Given the description of an element on the screen output the (x, y) to click on. 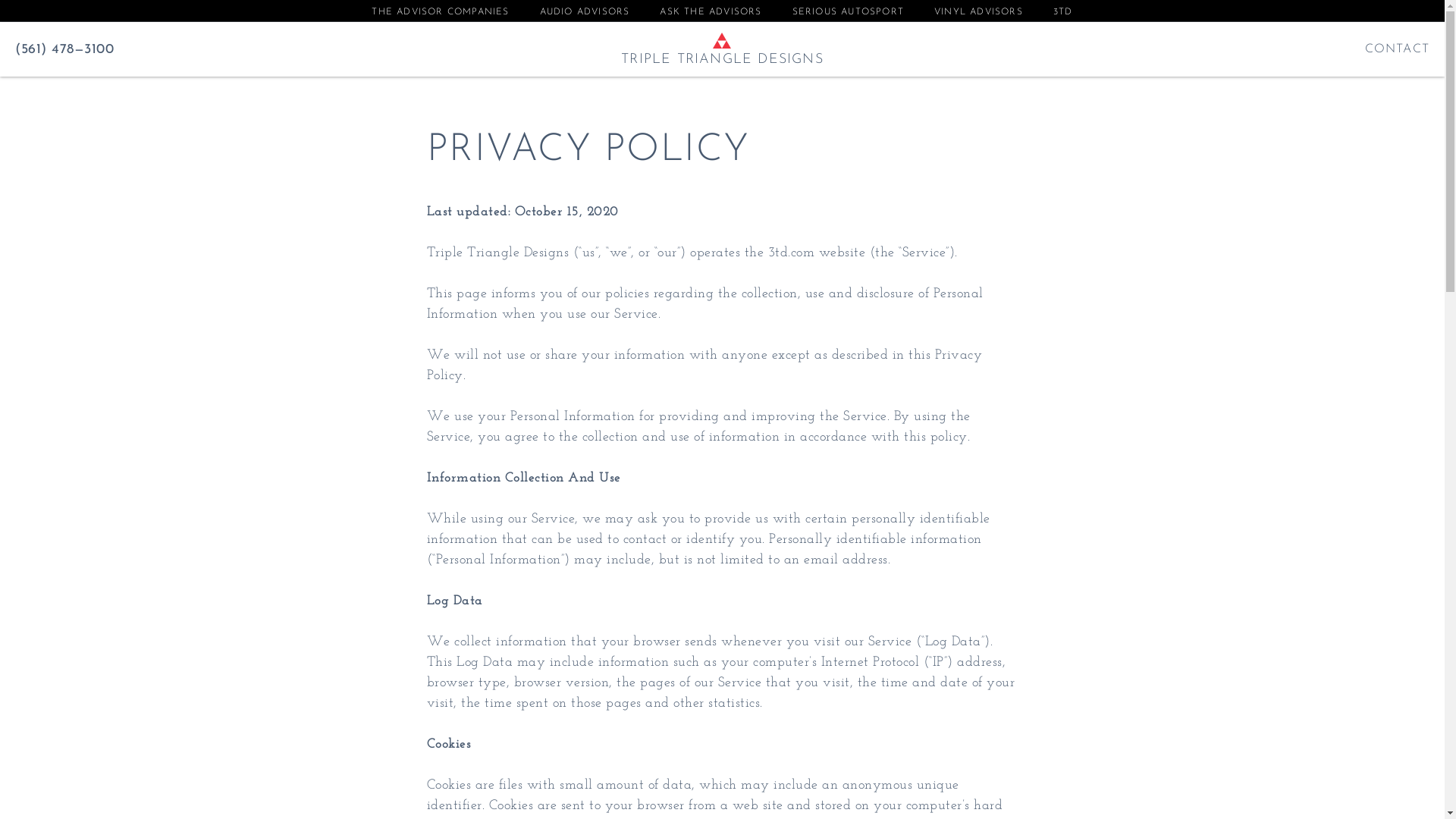
ASK THE ADVISORS Element type: text (710, 11)
AUDIO ADVISORS Element type: text (584, 11)
CONTACT Element type: text (1397, 49)
VINYL ADVISORS Element type: text (978, 11)
SERIOUS AUTOSPORT Element type: text (847, 11)
THE ADVISOR COMPANIES Element type: text (439, 11)
TRIPLE TRIANGLE DESIGNS Element type: text (722, 59)
3TD Element type: text (1063, 11)
